Given the description of an element on the screen output the (x, y) to click on. 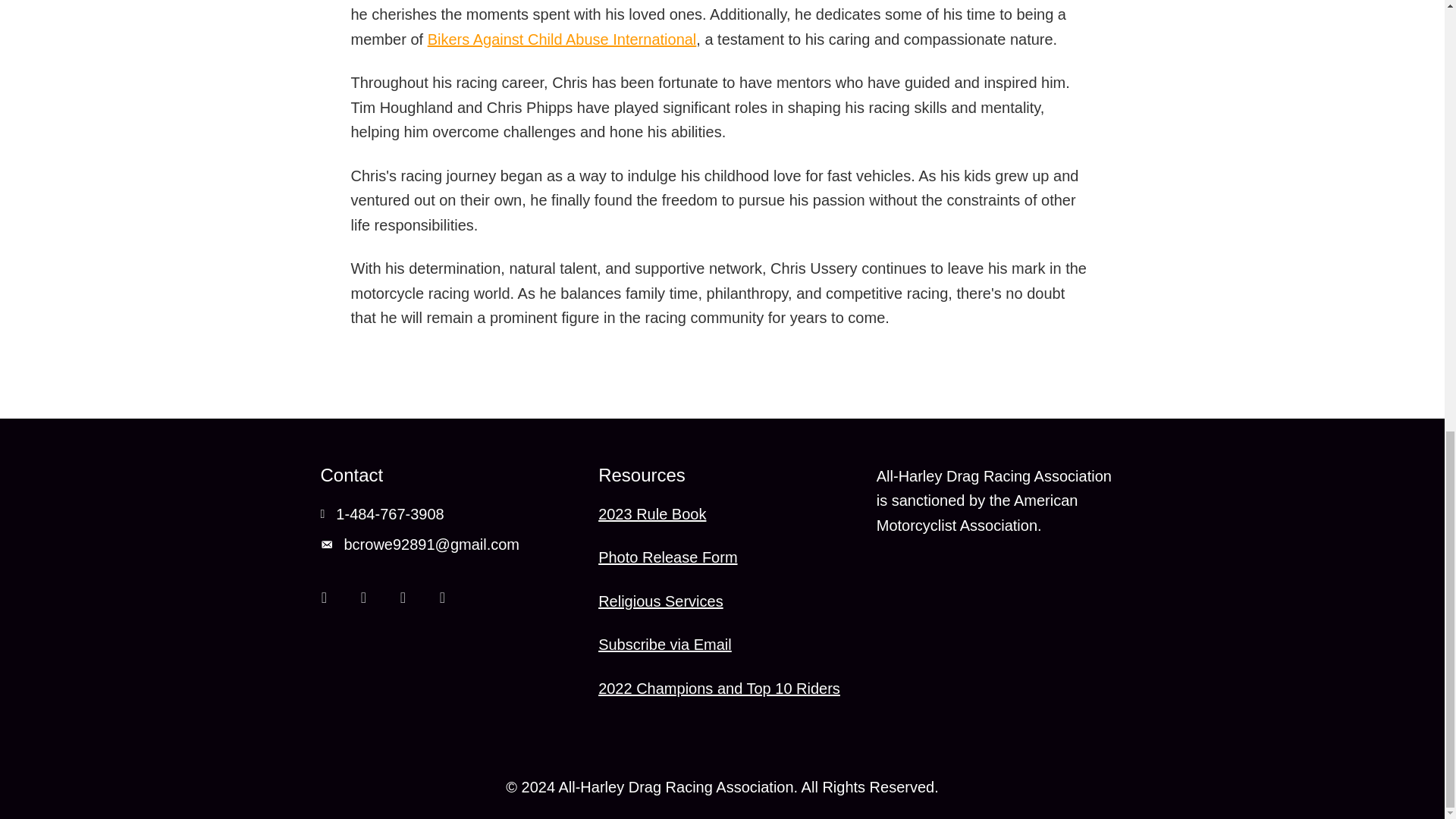
2022 Champions and Top 10 Riders (719, 687)
Facebook (323, 596)
Photo Release Form (667, 556)
Google Plus (442, 596)
Instagram (362, 596)
2023 Rule Book (652, 513)
Subscribe via Email (665, 644)
1-484-767-3908 (390, 514)
Religious Services (660, 600)
Bikers Against Child Abuse International (562, 38)
Email (403, 596)
